Given the description of an element on the screen output the (x, y) to click on. 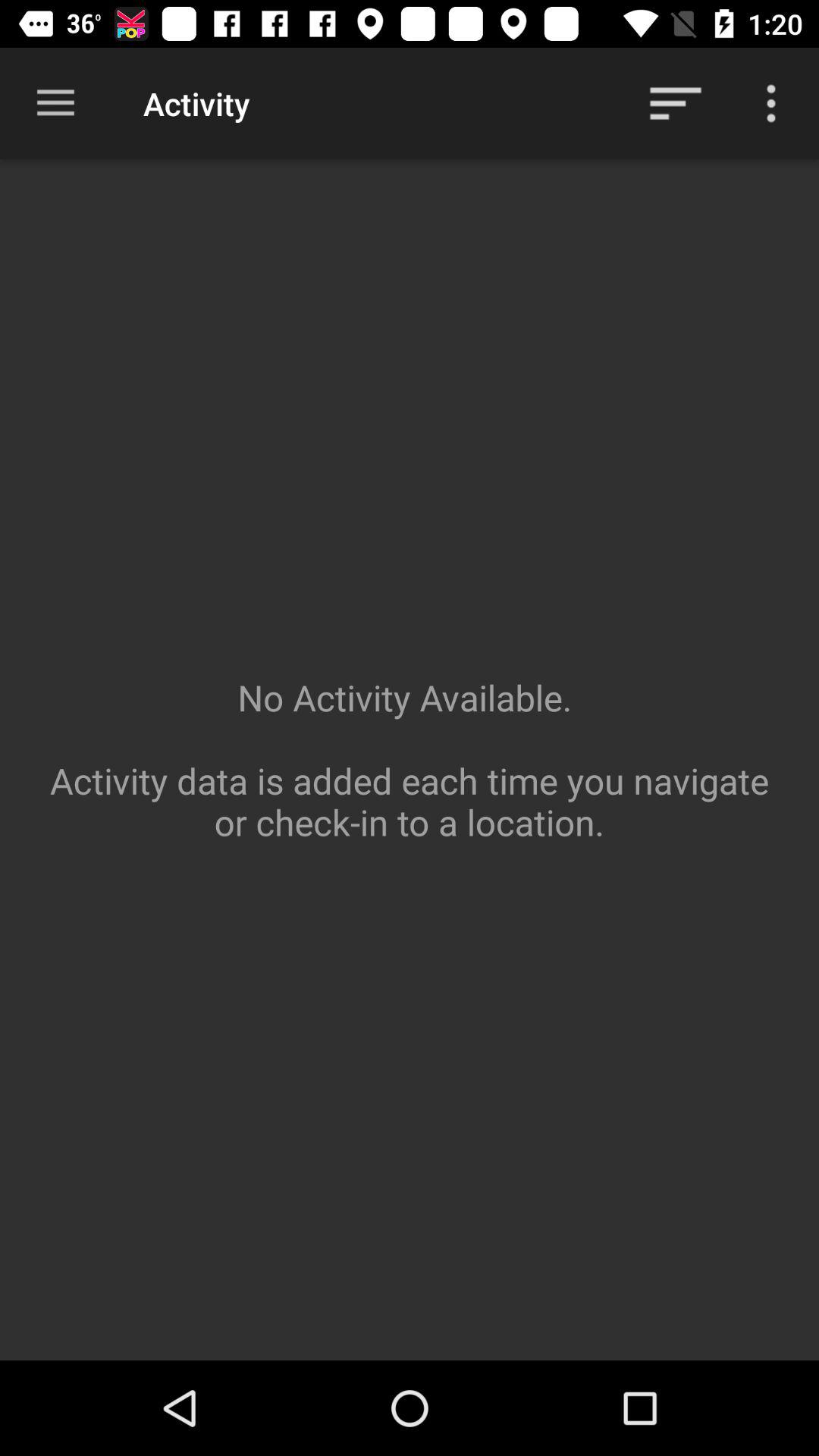
tap the item above the no activity available icon (771, 103)
